Given the description of an element on the screen output the (x, y) to click on. 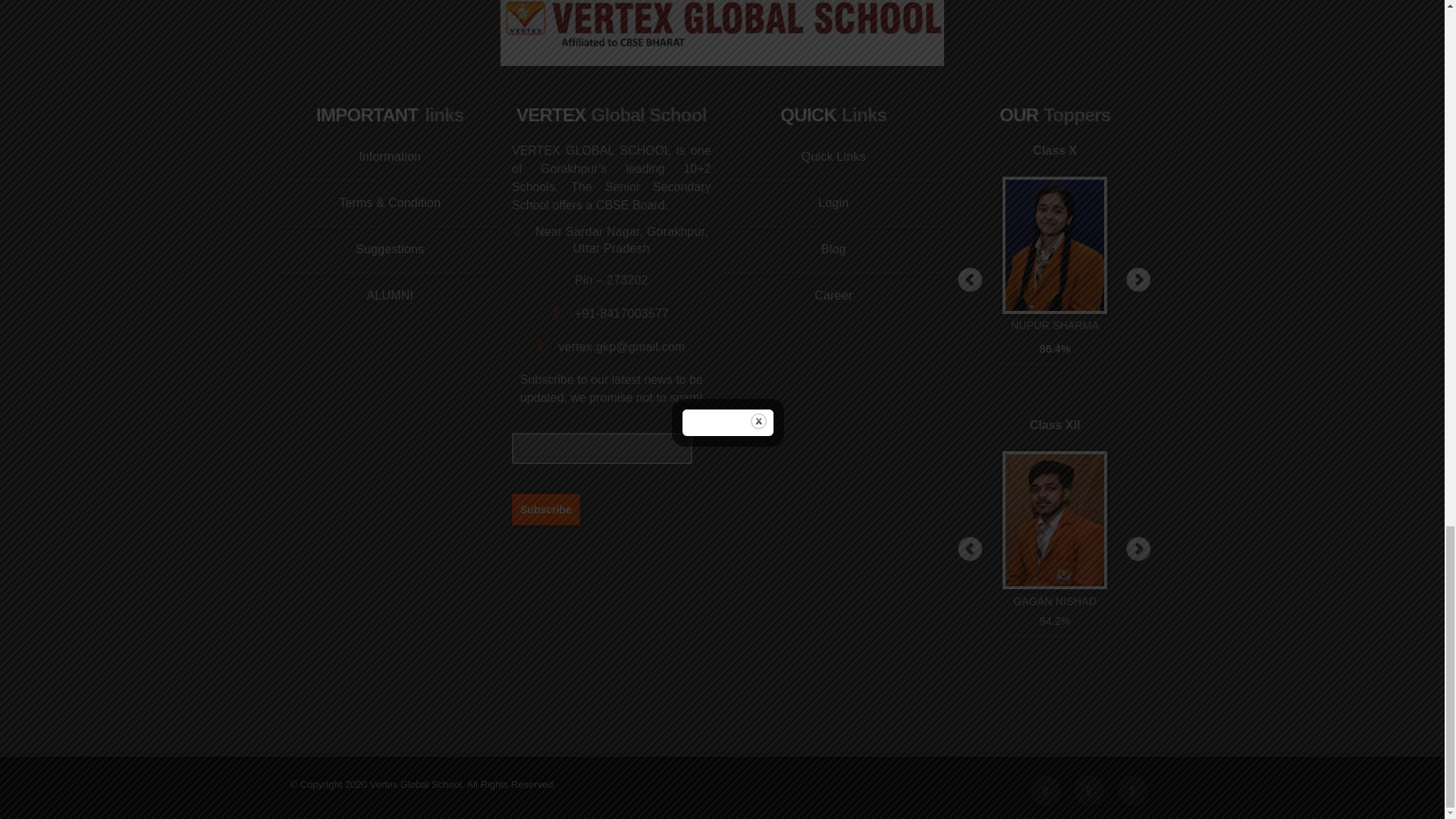
Subscribe (545, 508)
